Given the description of an element on the screen output the (x, y) to click on. 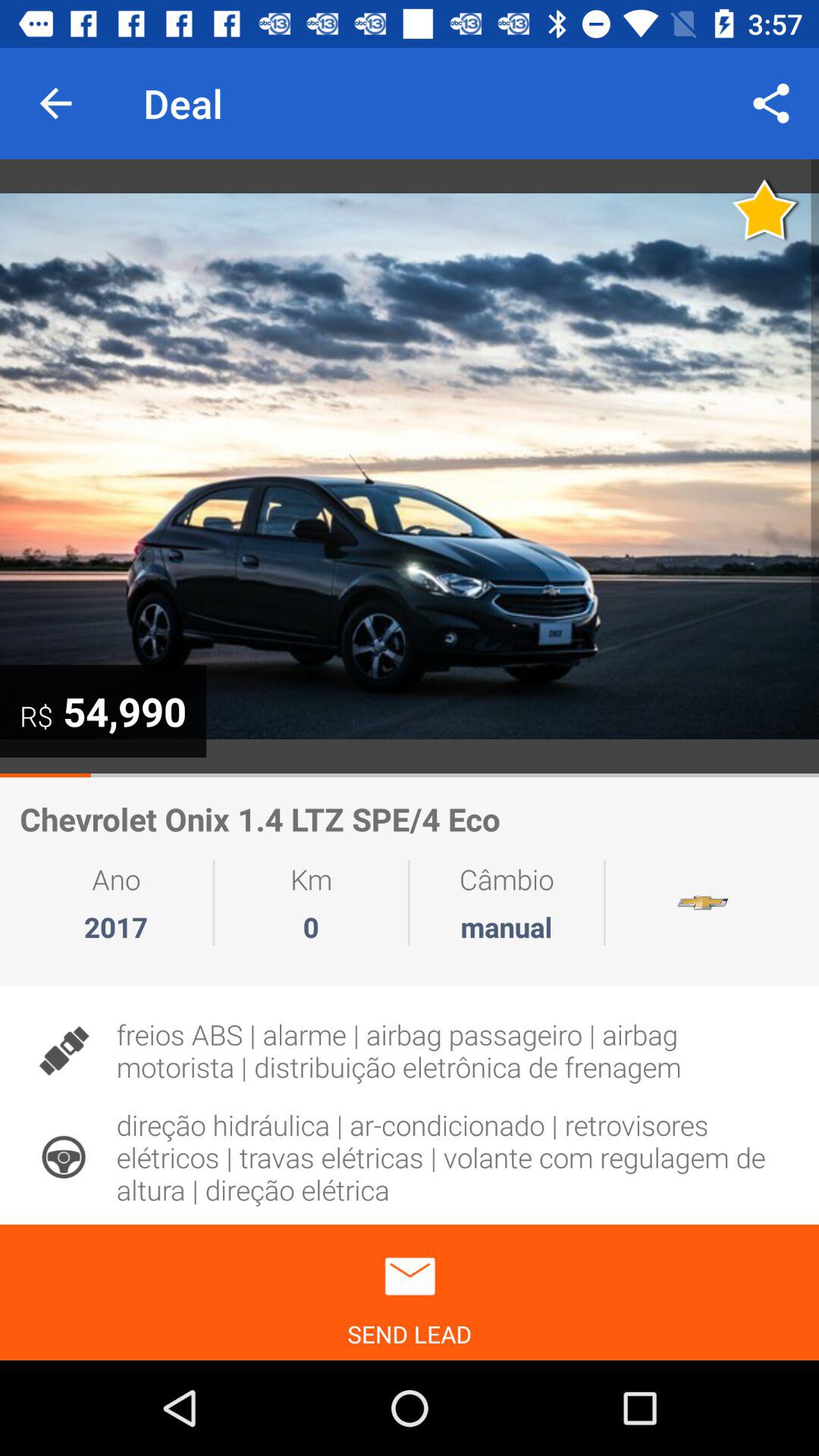
bookmark this deal (765, 209)
